Given the description of an element on the screen output the (x, y) to click on. 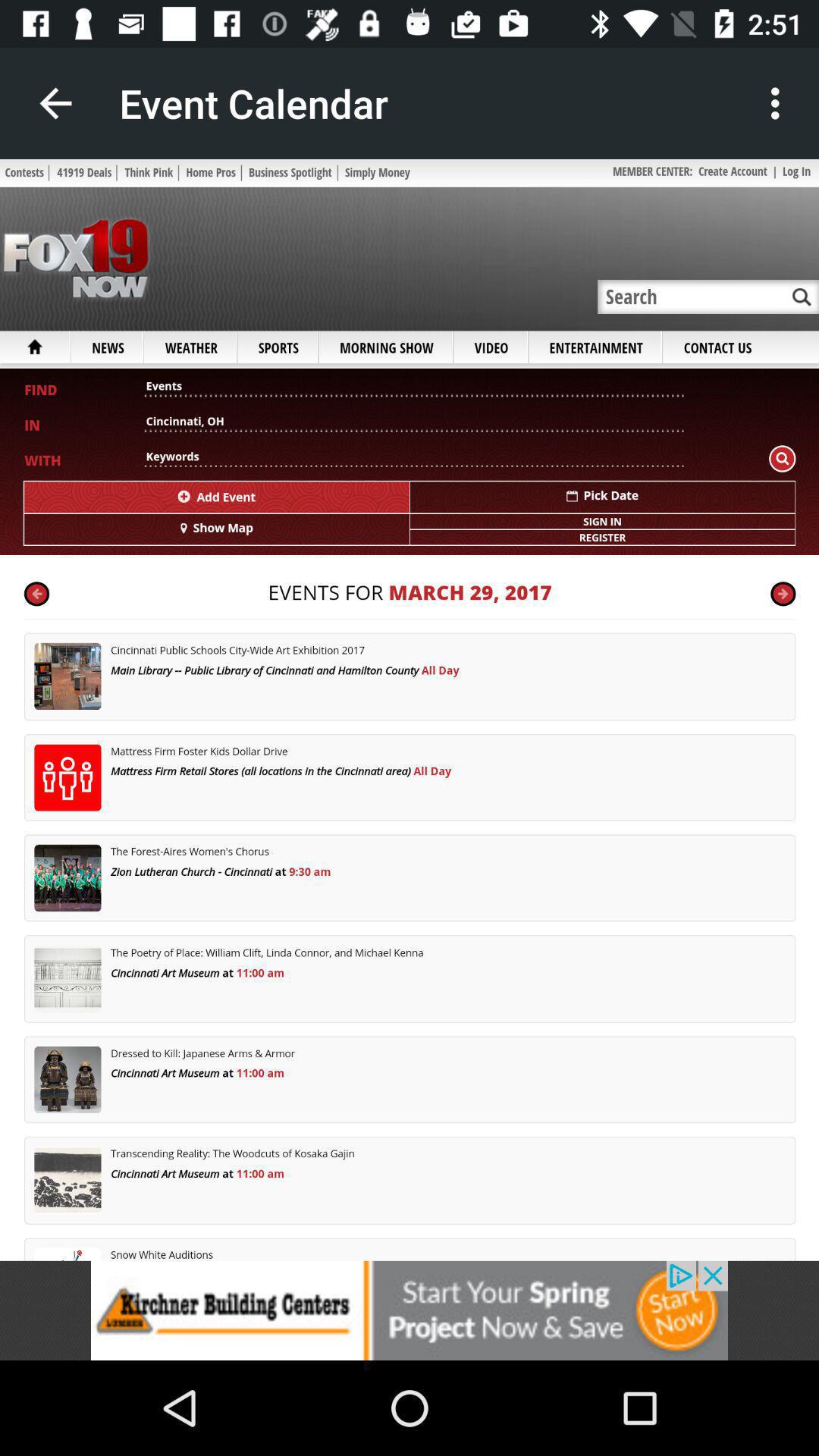
advertisement image (409, 1310)
